Given the description of an element on the screen output the (x, y) to click on. 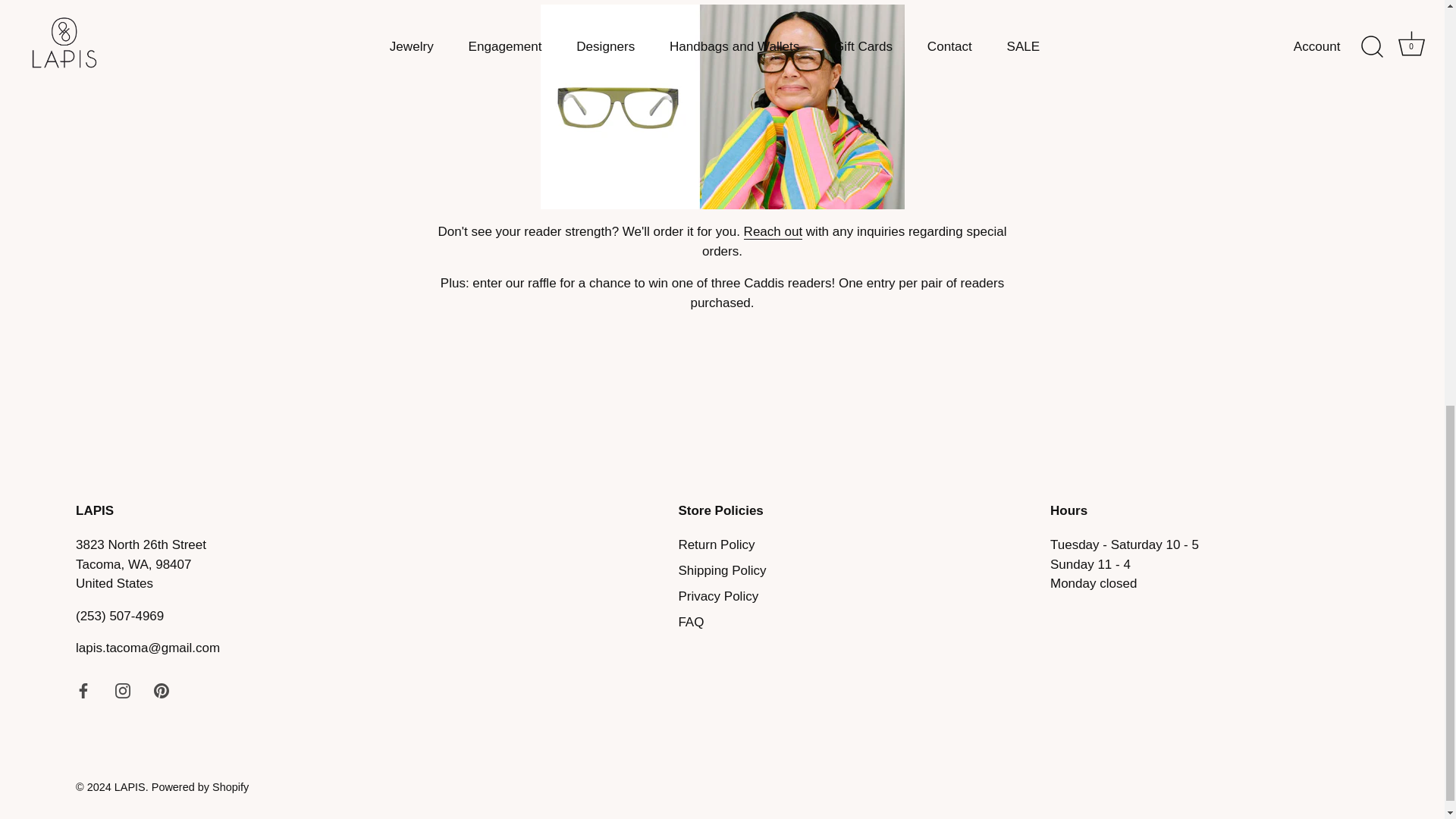
Instagram (123, 690)
Pinterest (161, 690)
